Given the description of an element on the screen output the (x, y) to click on. 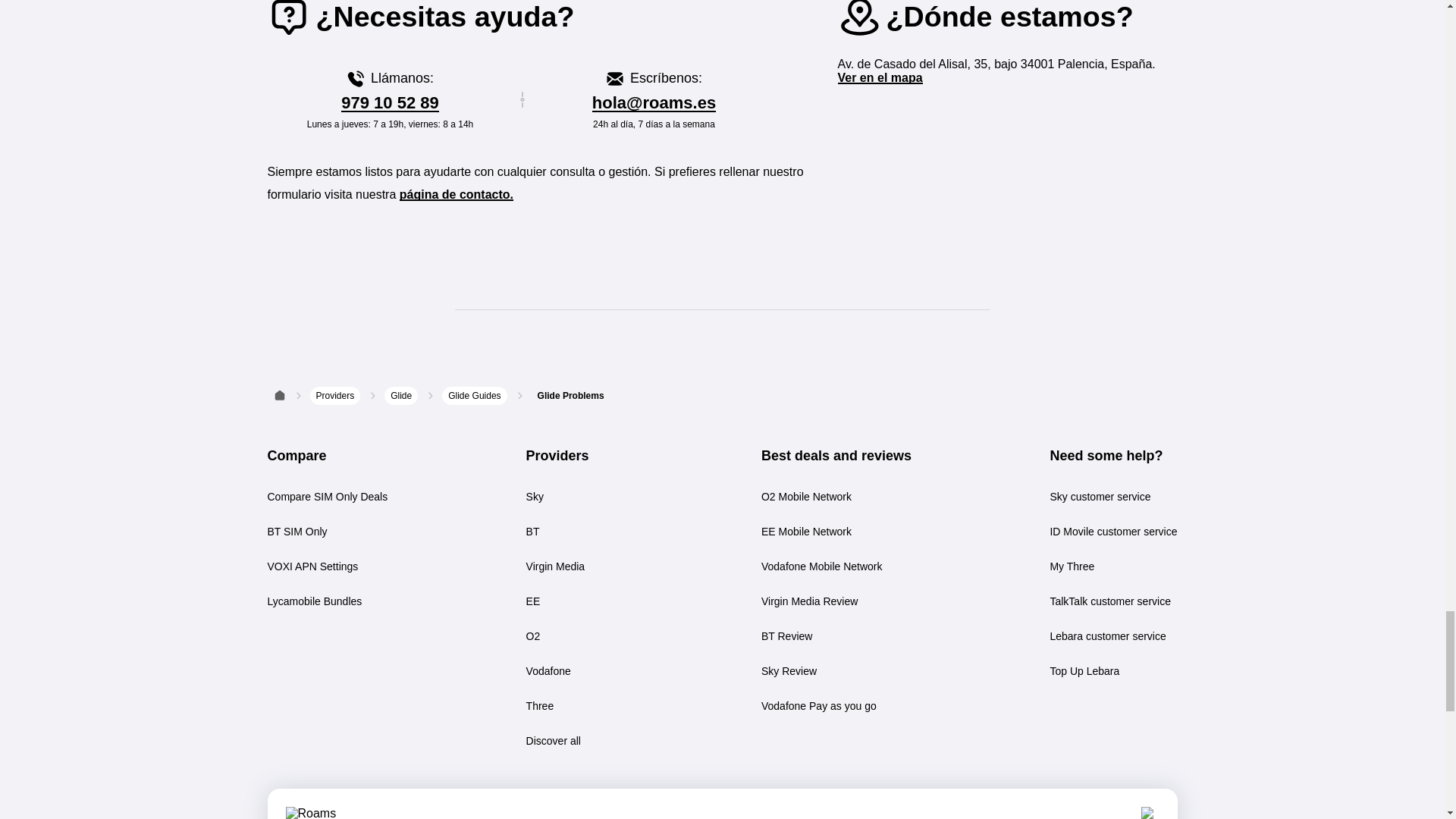
Roams Logo (315, 812)
Google Logo (1149, 812)
